Given the description of an element on the screen output the (x, y) to click on. 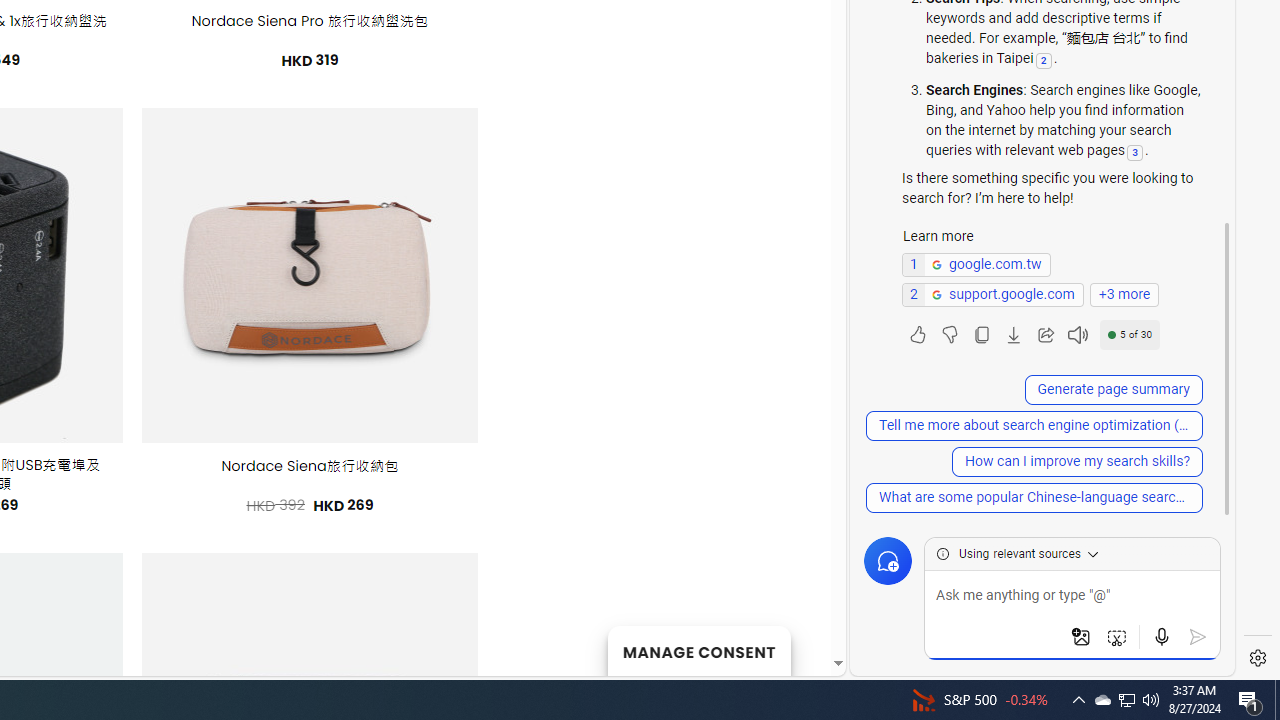
MANAGE CONSENT (698, 650)
